Given the description of an element on the screen output the (x, y) to click on. 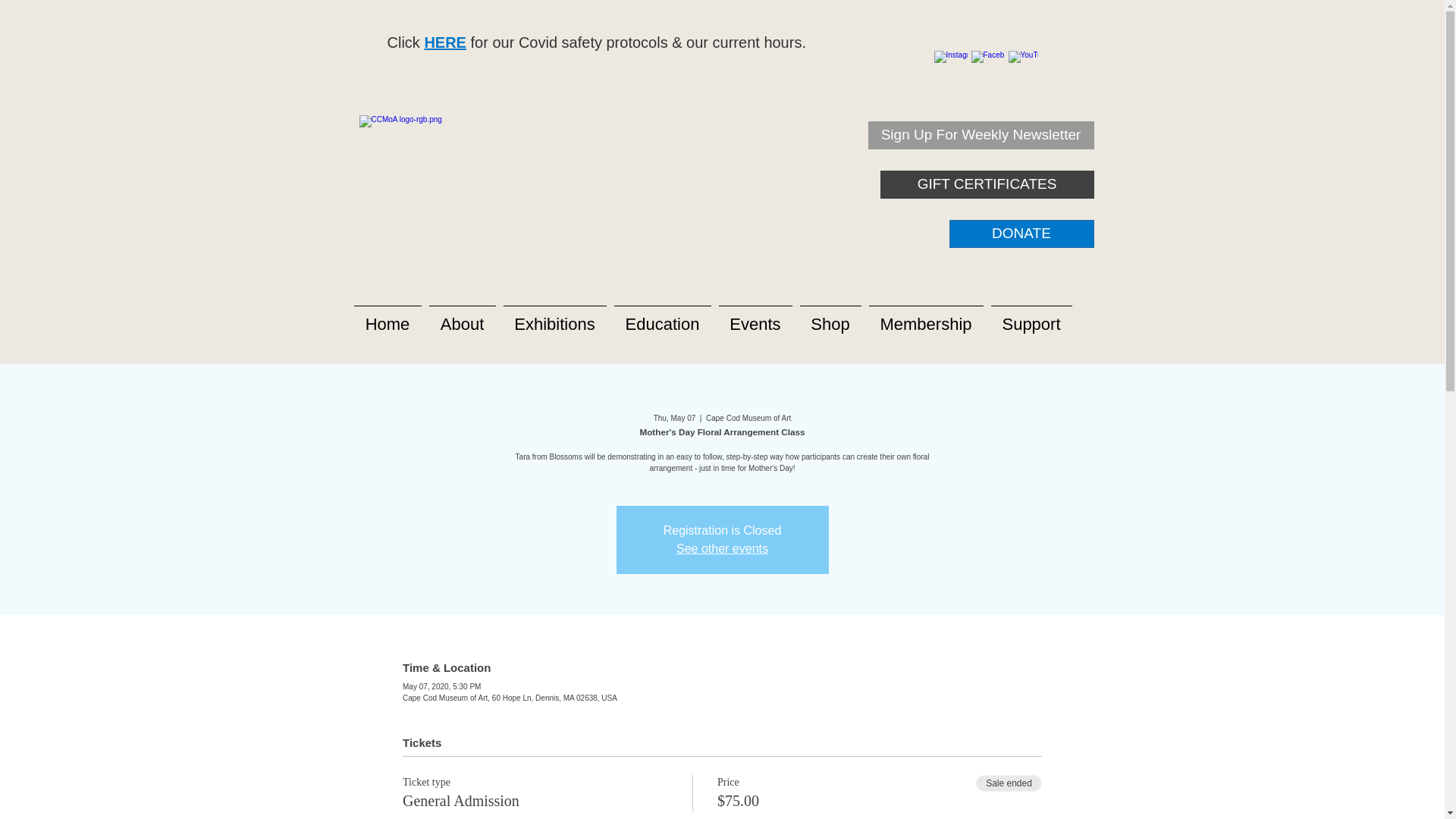
Home (387, 317)
Sign Up For Weekly Newsletter (980, 135)
GIFT CERTIFICATES (986, 184)
HERE (444, 42)
DONATE (1021, 234)
